Given the description of an element on the screen output the (x, y) to click on. 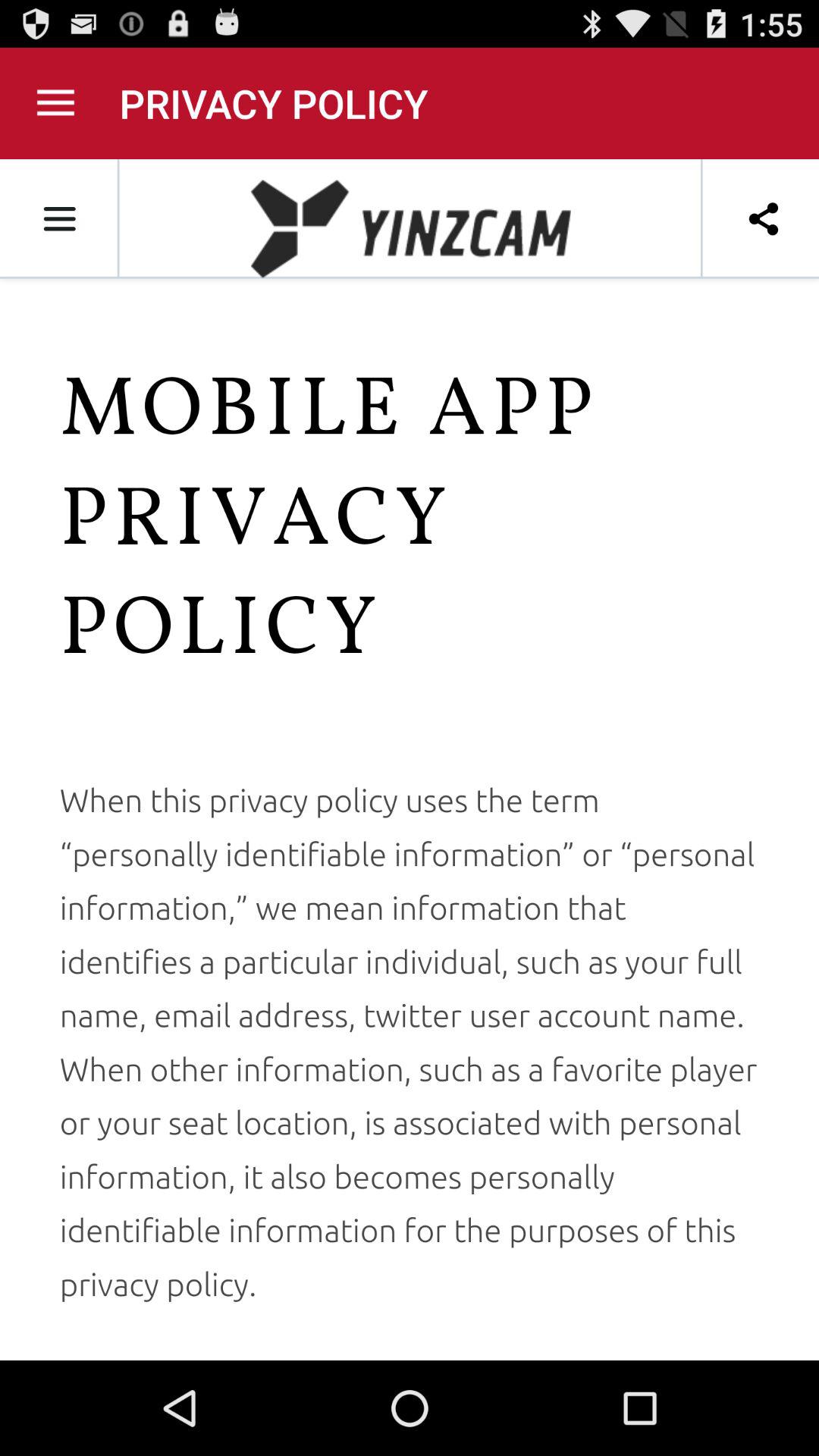
menu page (55, 103)
